Given the description of an element on the screen output the (x, y) to click on. 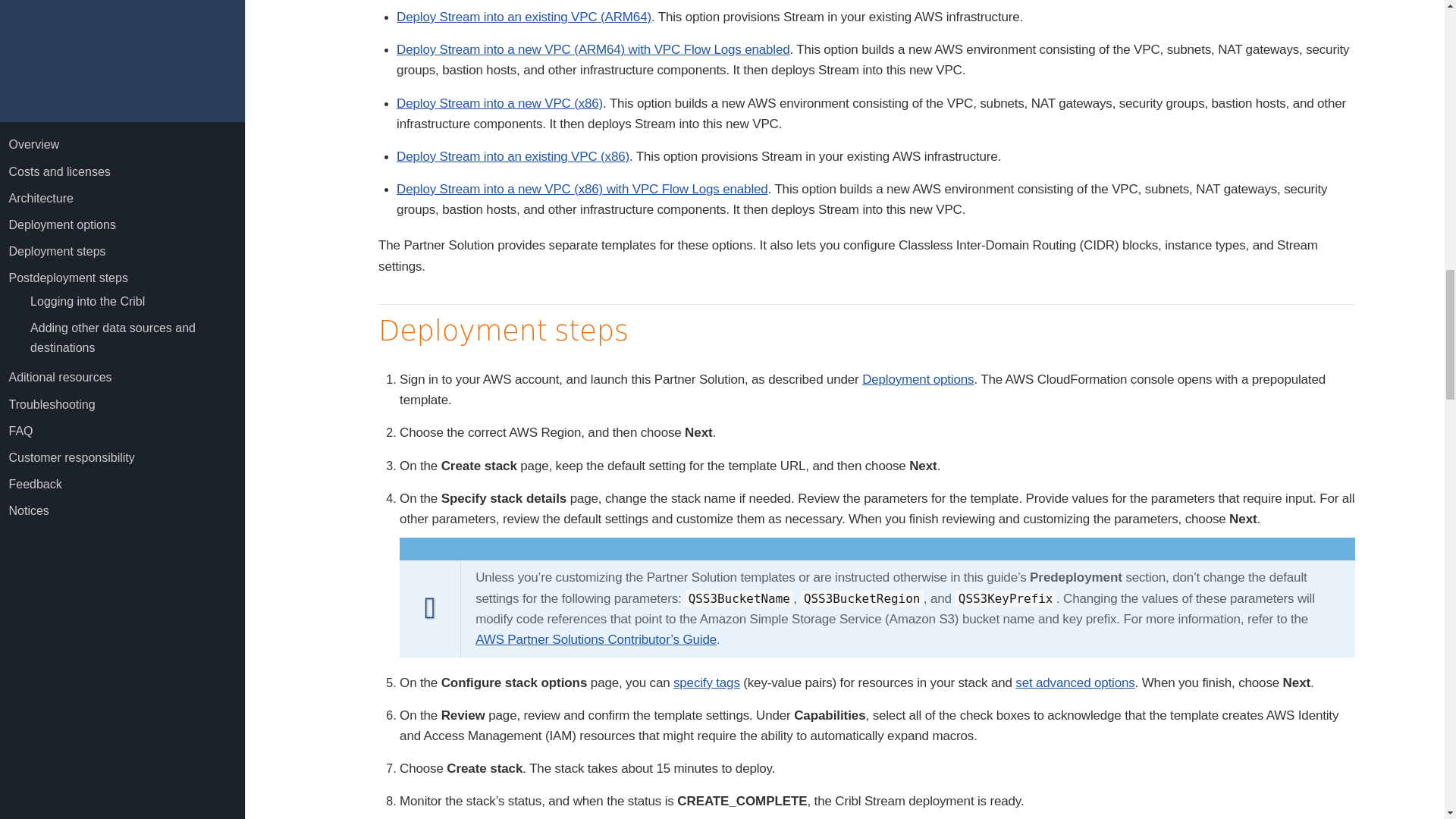
specify tags (705, 682)
set advanced options (1074, 682)
Deployment options (917, 379)
